Given the description of an element on the screen output the (x, y) to click on. 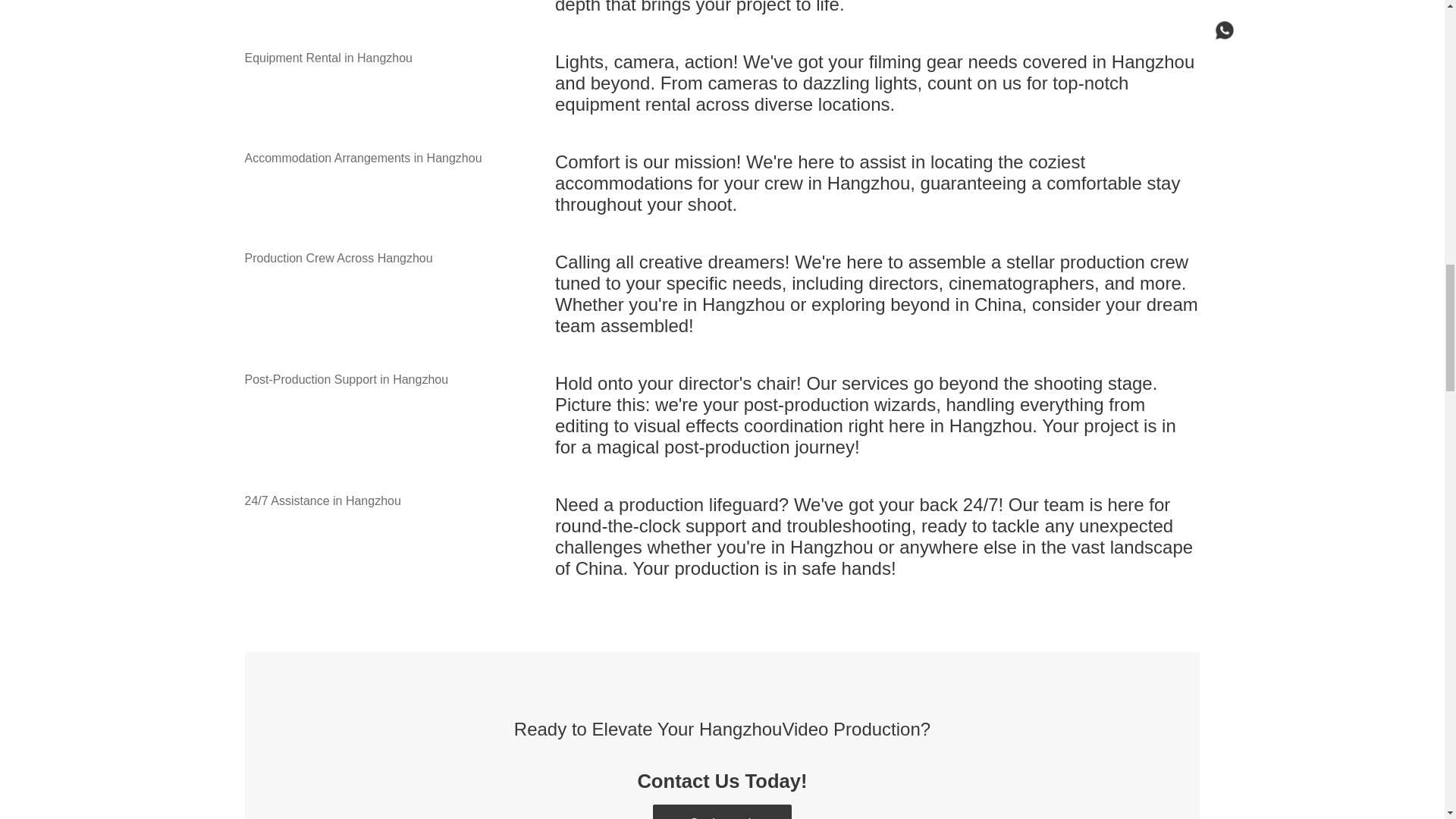
Contact Us Today! (721, 780)
Get in touch (721, 811)
